Given the description of an element on the screen output the (x, y) to click on. 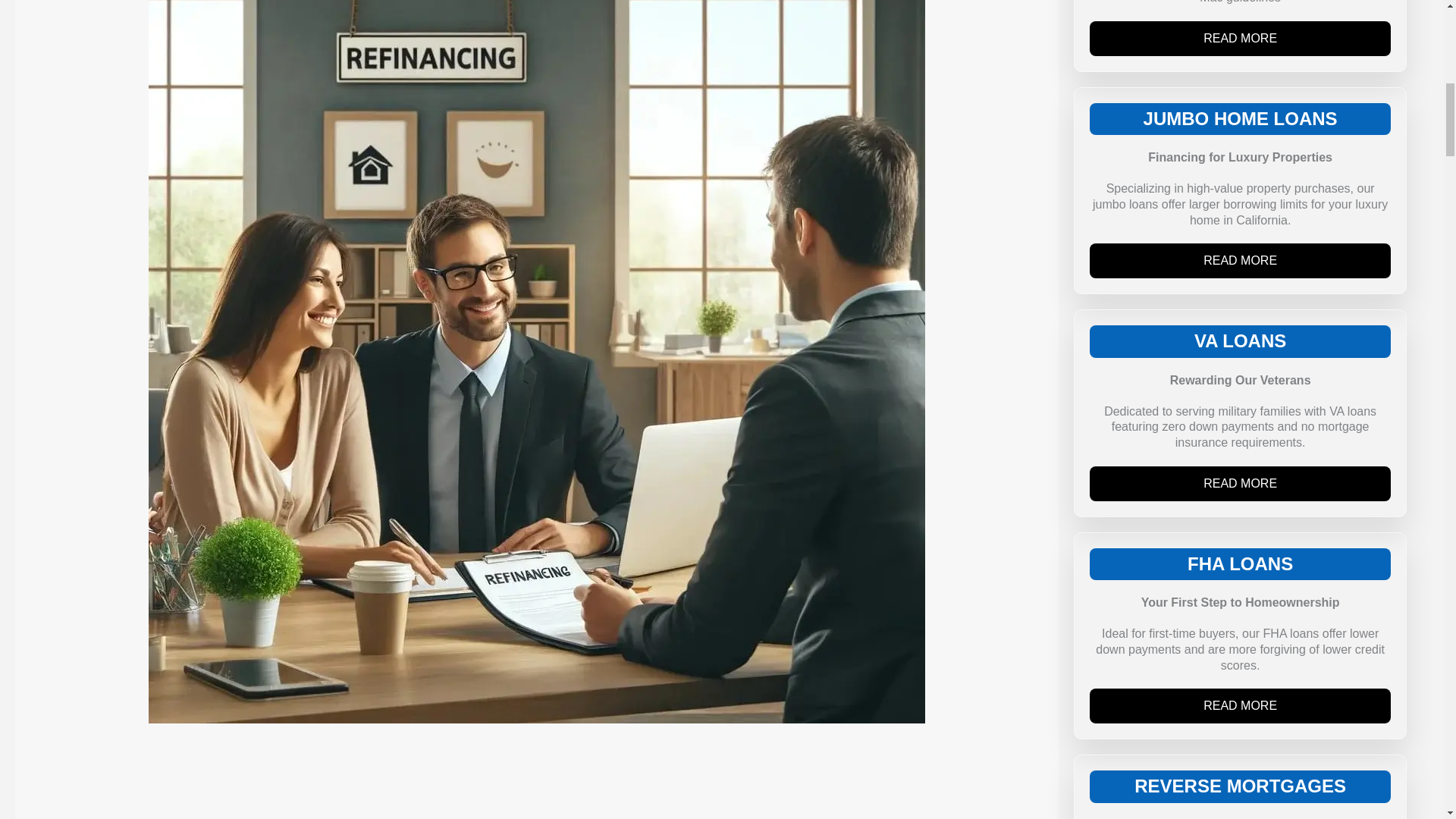
READ MORE (1239, 483)
READ MORE (1239, 260)
FHA LOANS (1240, 563)
VA LOANS (1239, 340)
READ MORE (1239, 38)
JUMBO HOME LOANS (1240, 118)
READ MORE (1239, 705)
